Given the description of an element on the screen output the (x, y) to click on. 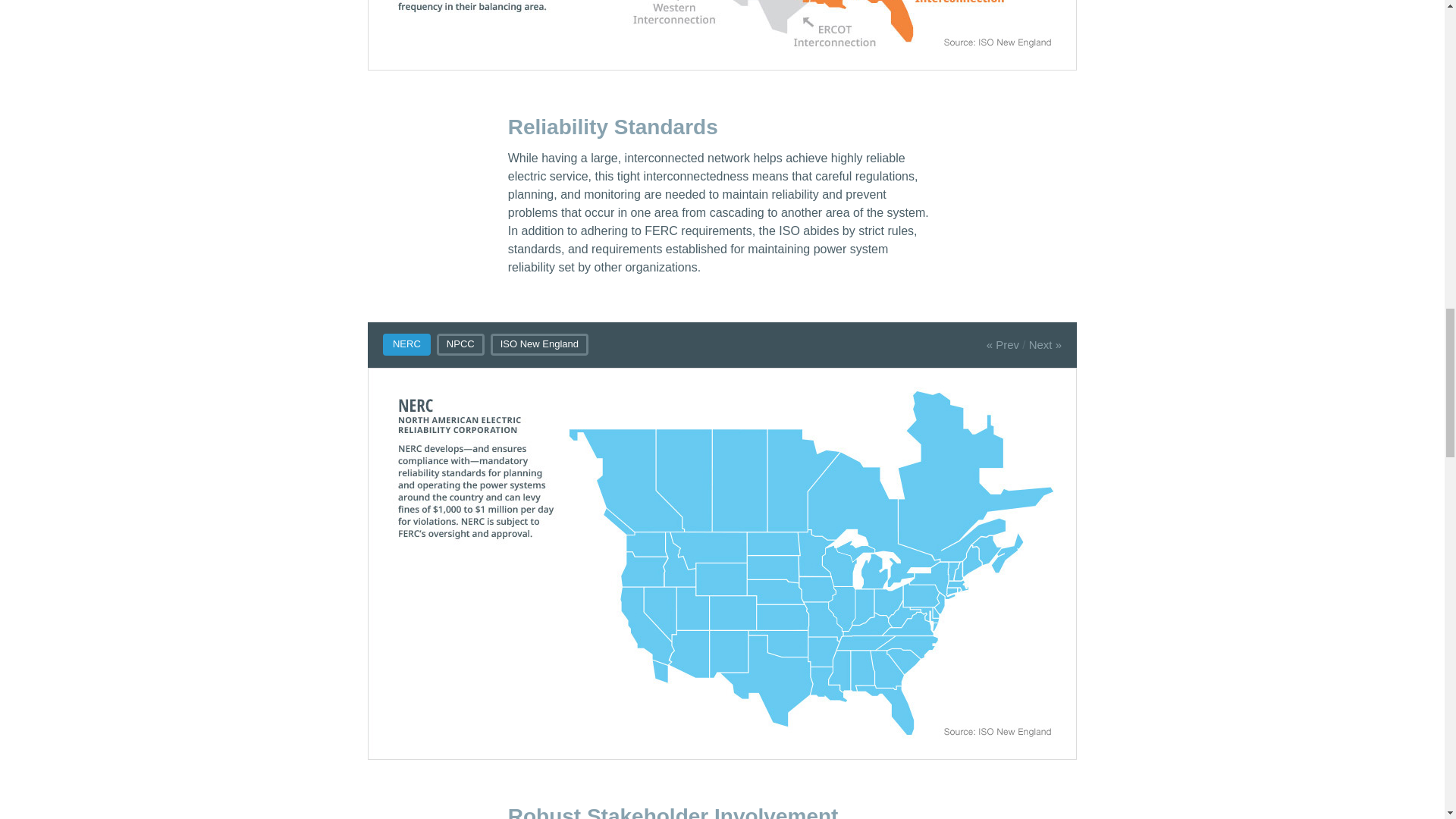
Eastern Interconnection (721, 34)
